Given the description of an element on the screen output the (x, y) to click on. 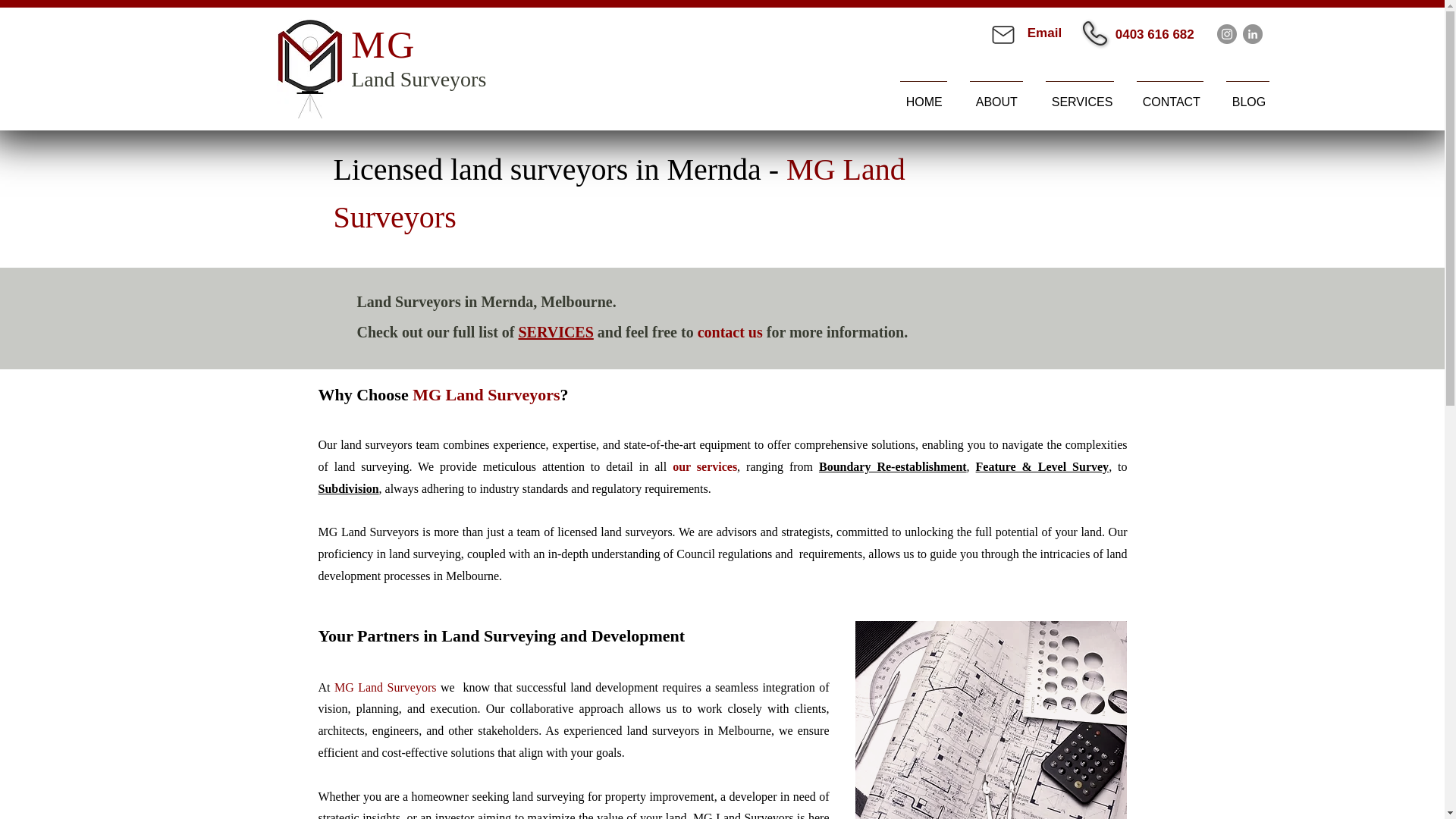
SERVICES (1079, 95)
SERVICES (555, 330)
Boundary Re-establishment (892, 466)
our services (704, 466)
Email (1044, 32)
MG (383, 44)
ABOUT (995, 95)
HOME (923, 95)
Subdivision (348, 488)
BLOG (1247, 95)
Land Surveyors (418, 78)
0403 616 682 (1154, 34)
CONTACT (1169, 95)
contact us (729, 330)
